Given the description of an element on the screen output the (x, y) to click on. 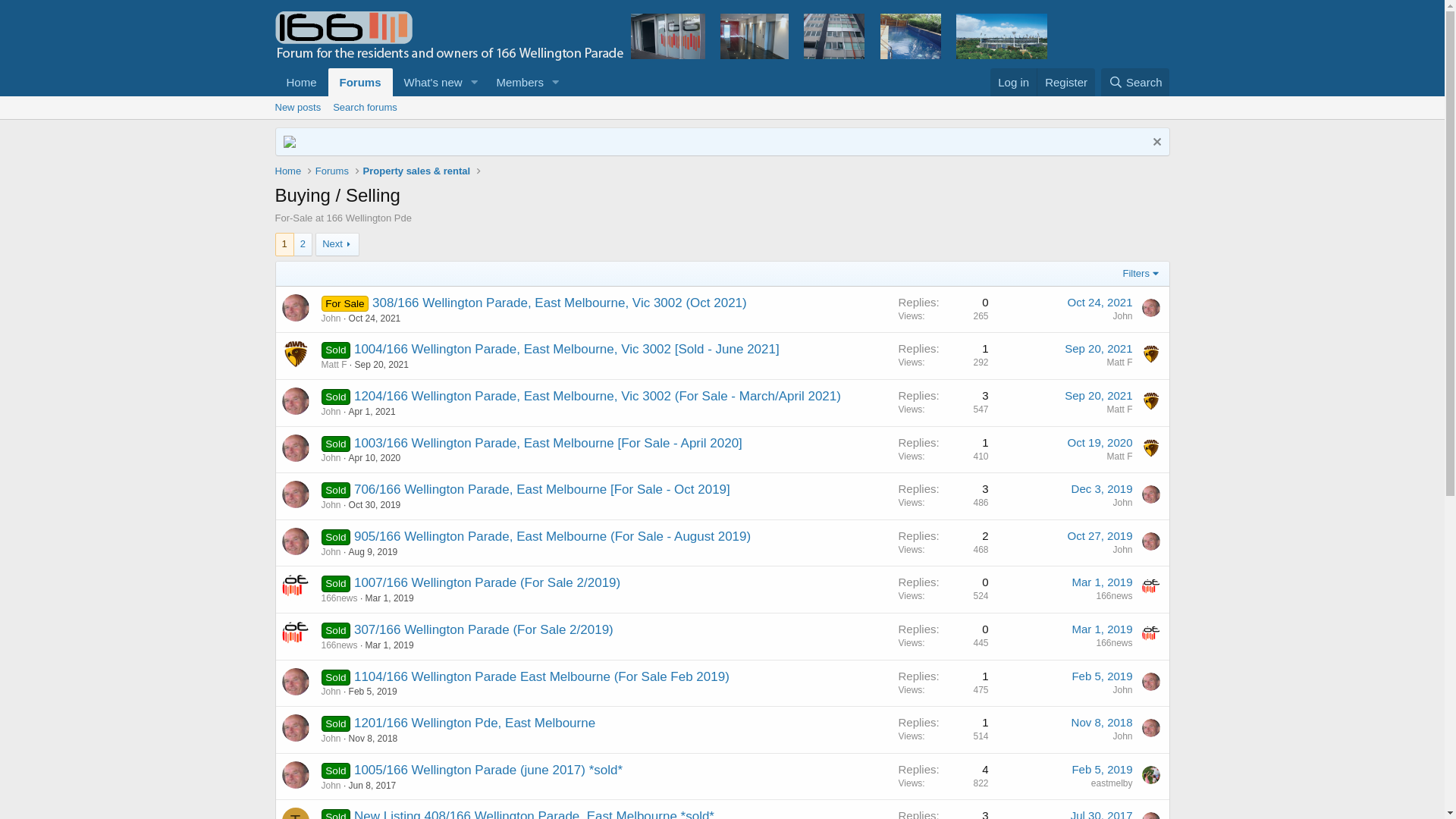
Sep 20, 2021 Element type: text (1098, 395)
Mar 1, 2019 Element type: text (389, 598)
John Element type: text (331, 318)
1 Element type: text (284, 243)
Jun 8, 2017 Element type: text (372, 785)
Forums Element type: text (360, 82)
Oct 24, 2021 Element type: text (374, 318)
Sold Element type: text (336, 769)
Sold Element type: text (336, 536)
166news Element type: text (339, 645)
John Element type: text (1122, 549)
Sold Element type: text (336, 349)
John Element type: text (331, 785)
Mar 1, 2019 Element type: text (1101, 581)
Forums Element type: text (331, 170)
Members Element type: text (514, 82)
Home Element type: text (287, 170)
Next Element type: text (337, 243)
Oct 19, 2020 Element type: text (1099, 442)
Sold Element type: text (336, 396)
Dec 3, 2019 Element type: text (1101, 488)
166news Element type: text (1113, 595)
Sold Element type: text (336, 629)
Matt F Element type: text (1119, 409)
New posts Element type: text (297, 107)
Nov 8, 2018 Element type: text (373, 738)
Property sales & rental Element type: text (416, 170)
166news Element type: text (339, 598)
Sold Element type: text (336, 676)
John Element type: text (1122, 315)
For Sale Element type: text (345, 302)
John Element type: text (331, 457)
Sold Element type: text (336, 582)
Sold Element type: text (336, 443)
John Element type: text (331, 504)
Nov 8, 2018 Element type: text (1101, 721)
Sep 20, 2021 Element type: text (381, 364)
Oct 27, 2019 Element type: text (1099, 535)
Sold Element type: text (336, 489)
Aug 9, 2019 Element type: text (373, 551)
Oct 24, 2021 Element type: text (1099, 301)
John Element type: text (1122, 736)
Matt F Element type: text (334, 364)
Feb 5, 2019 Element type: text (1101, 675)
John Element type: text (331, 411)
Oct 30, 2019 Element type: text (374, 504)
Sold Element type: text (336, 722)
307/166 Wellington Parade (For Sale 2/2019) Element type: text (483, 629)
eastmelby Element type: text (1111, 783)
John Element type: text (331, 738)
John Element type: text (1122, 689)
John Element type: text (331, 691)
Matt F Element type: text (1119, 456)
Matt F Element type: text (1119, 362)
Apr 1, 2021 Element type: text (371, 411)
Feb 5, 2019 Element type: text (1101, 768)
Apr 10, 2020 Element type: text (374, 457)
Home Element type: text (300, 82)
Mar 1, 2019 Element type: text (1101, 628)
Mar 1, 2019 Element type: text (389, 645)
Filters Element type: text (1142, 273)
Search Element type: text (1135, 82)
1007/166 Wellington Parade (For Sale 2/2019) Element type: text (487, 582)
166news Element type: text (1113, 642)
Feb 5, 2019 Element type: text (372, 691)
What's new Element type: text (428, 82)
Search forums Element type: text (364, 107)
2 Element type: text (302, 243)
1005/166 Wellington Parade (june 2017) *sold* Element type: text (488, 769)
John Element type: text (331, 551)
John Element type: text (1122, 502)
Register Element type: text (1065, 82)
Sep 20, 2021 Element type: text (1098, 348)
1201/166 Wellington Pde, East Melbourne Element type: text (474, 722)
Log in Element type: text (1013, 82)
